Given the description of an element on the screen output the (x, y) to click on. 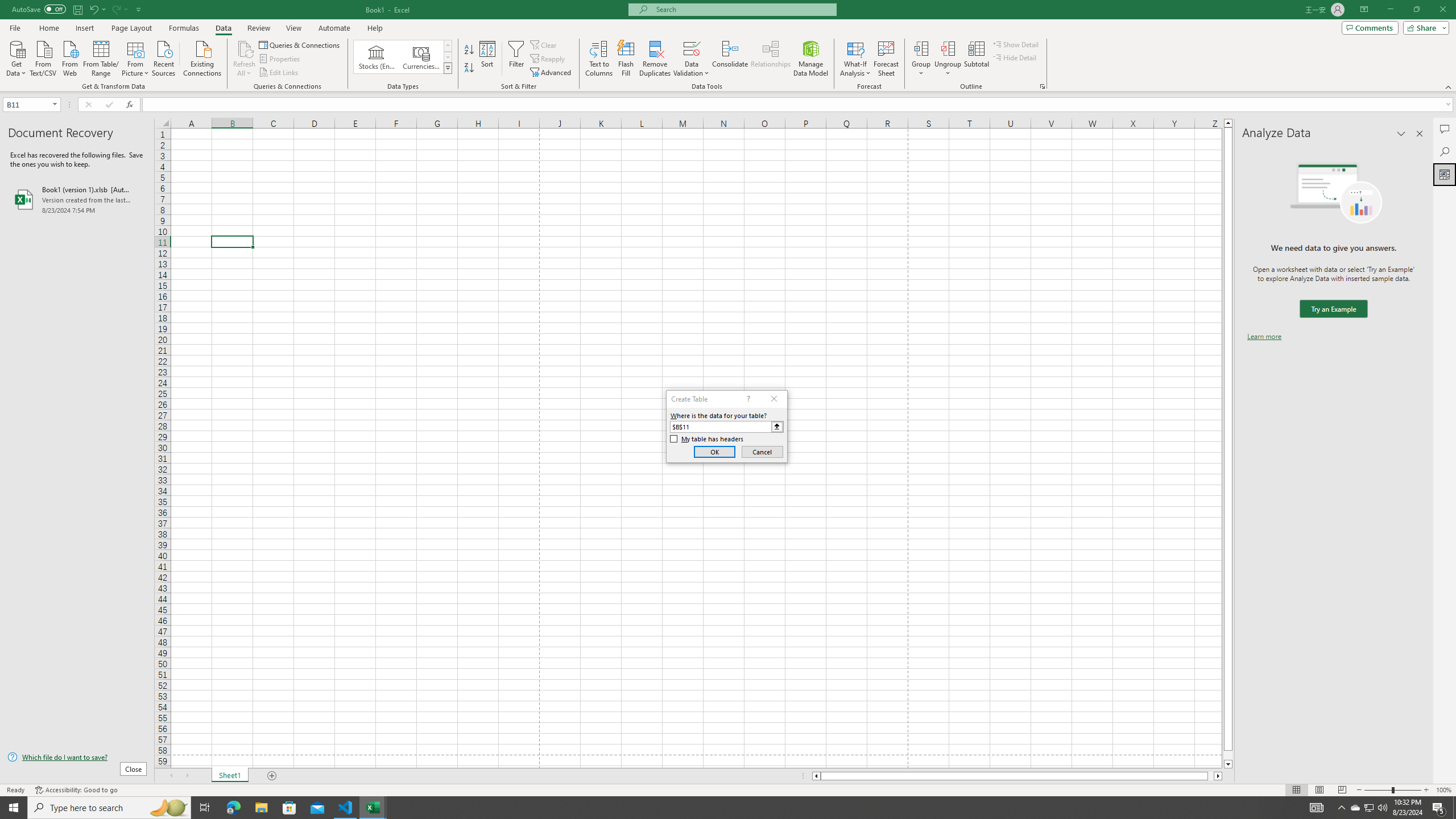
Reapply (548, 58)
From Text/CSV (43, 57)
Which file do I want to save? (77, 757)
Currencies (English) (420, 56)
Sort A to Z (469, 49)
Filter (515, 58)
Class: NetUIImage (447, 68)
Task Pane Options (1400, 133)
Text to Columns... (598, 58)
